Given the description of an element on the screen output the (x, y) to click on. 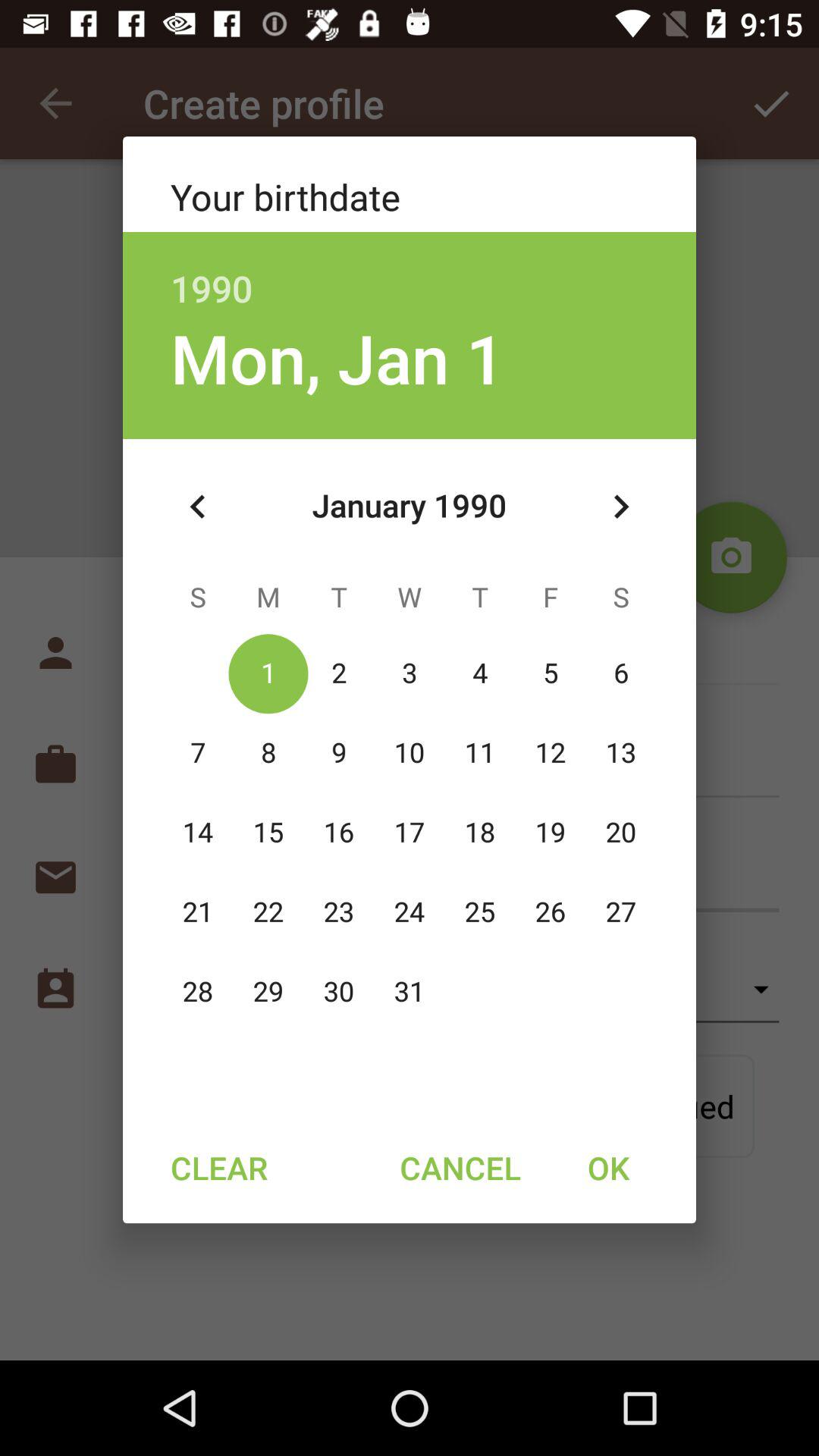
jump to clear item (218, 1167)
